Given the description of an element on the screen output the (x, y) to click on. 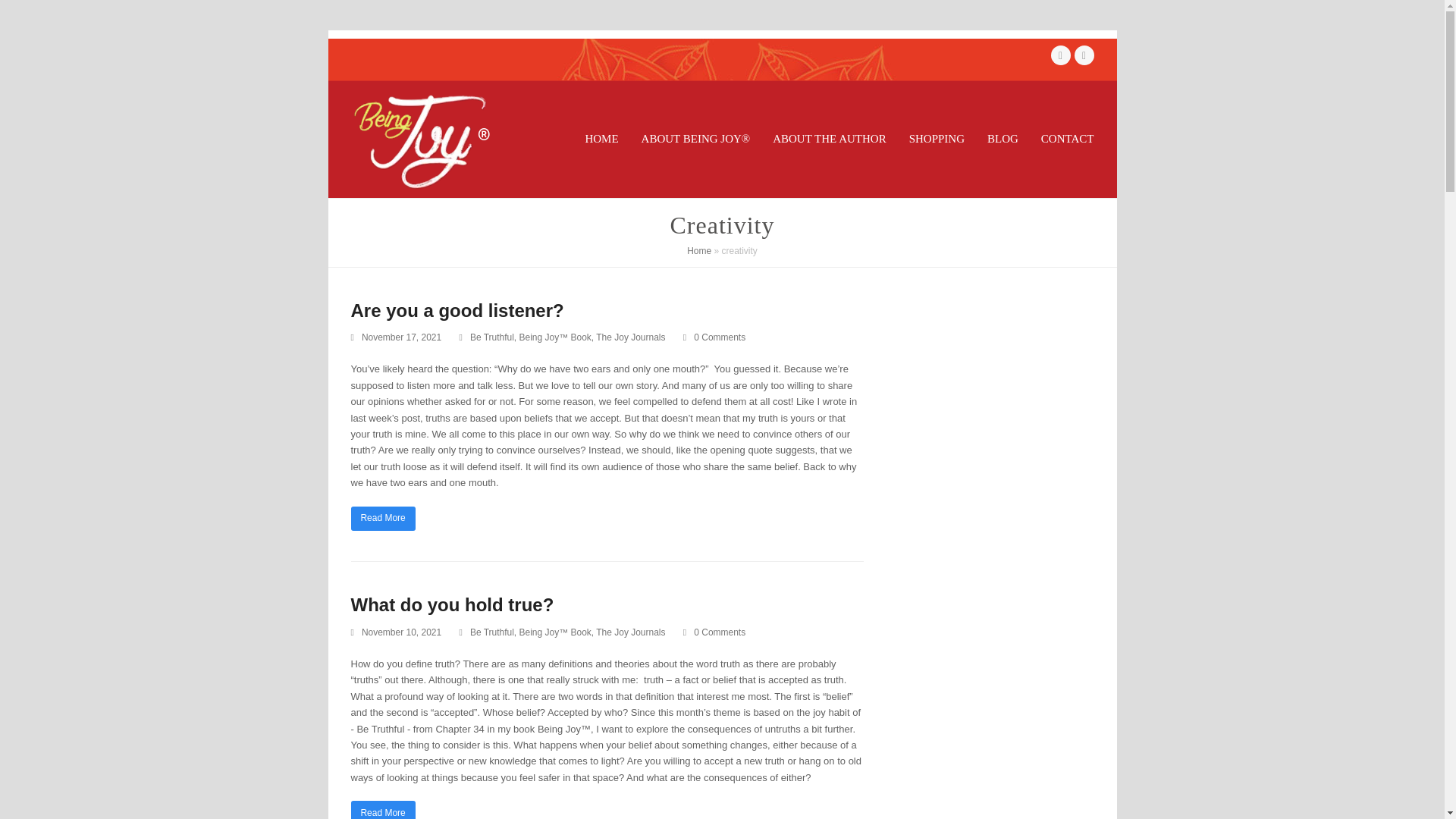
The Joy Journals (630, 632)
0 Comments (713, 632)
Read More (382, 518)
Be Truthful (491, 632)
CONTACT (1067, 139)
Youtube (1083, 55)
HOME (600, 139)
What do you hold true? (451, 604)
Facebook (1060, 55)
0 Comments (719, 632)
0 Comments (719, 337)
0 Comments (713, 337)
SHOPPING (936, 139)
The Joy Journals (630, 337)
Be Truthful (491, 337)
